Given the description of an element on the screen output the (x, y) to click on. 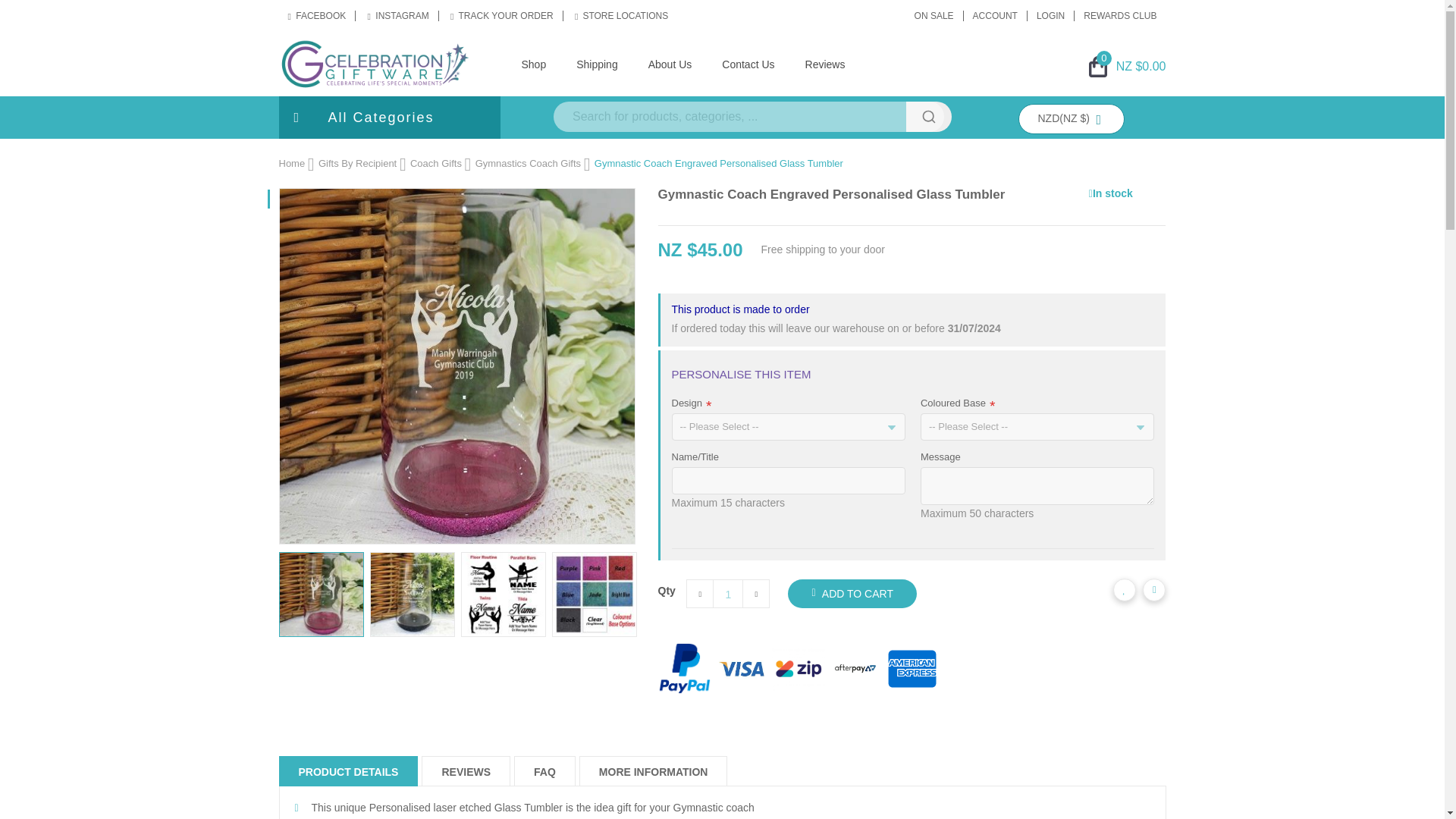
1 (727, 595)
Gymnastics Coach Gifts (528, 163)
Celebration Giftware (373, 63)
REWARDS CLUB (1120, 15)
Coach Gifts (435, 163)
Reviews (825, 64)
About Us (670, 64)
Gifts By Recipient (357, 163)
LOGIN (1050, 15)
Submit (928, 116)
Availability (1110, 193)
Share (1154, 589)
Add To Wishlist (1124, 589)
 TRACK YOUR ORDER (502, 15)
 STORE LOCATIONS (621, 15)
